Given the description of an element on the screen output the (x, y) to click on. 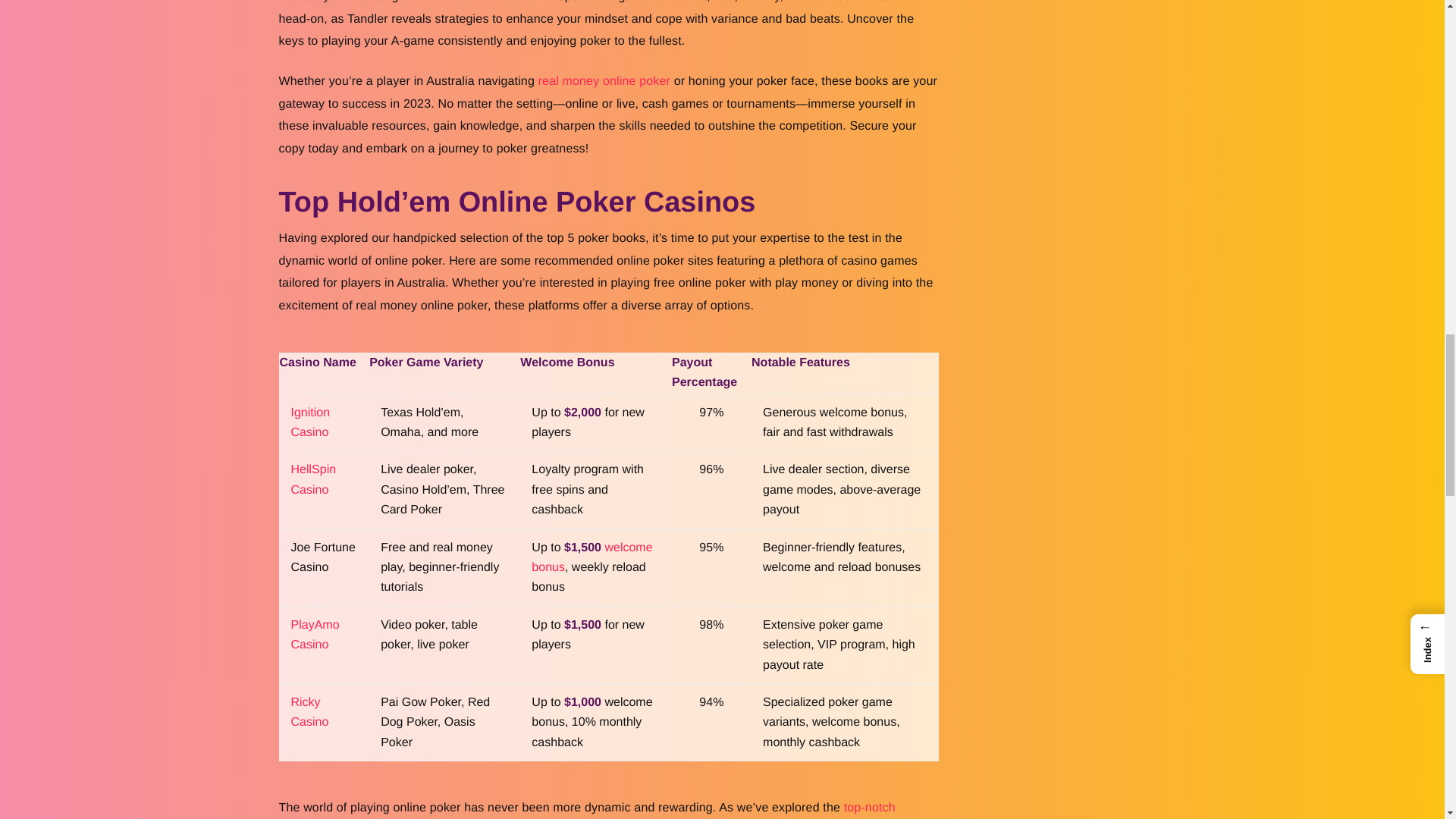
welcome bonus (591, 557)
real money online poker (603, 81)
Ignition Casino (310, 422)
PlayAmo Casino (315, 635)
HellSpin Casino (313, 479)
Ricky Casino (310, 712)
